Given the description of an element on the screen output the (x, y) to click on. 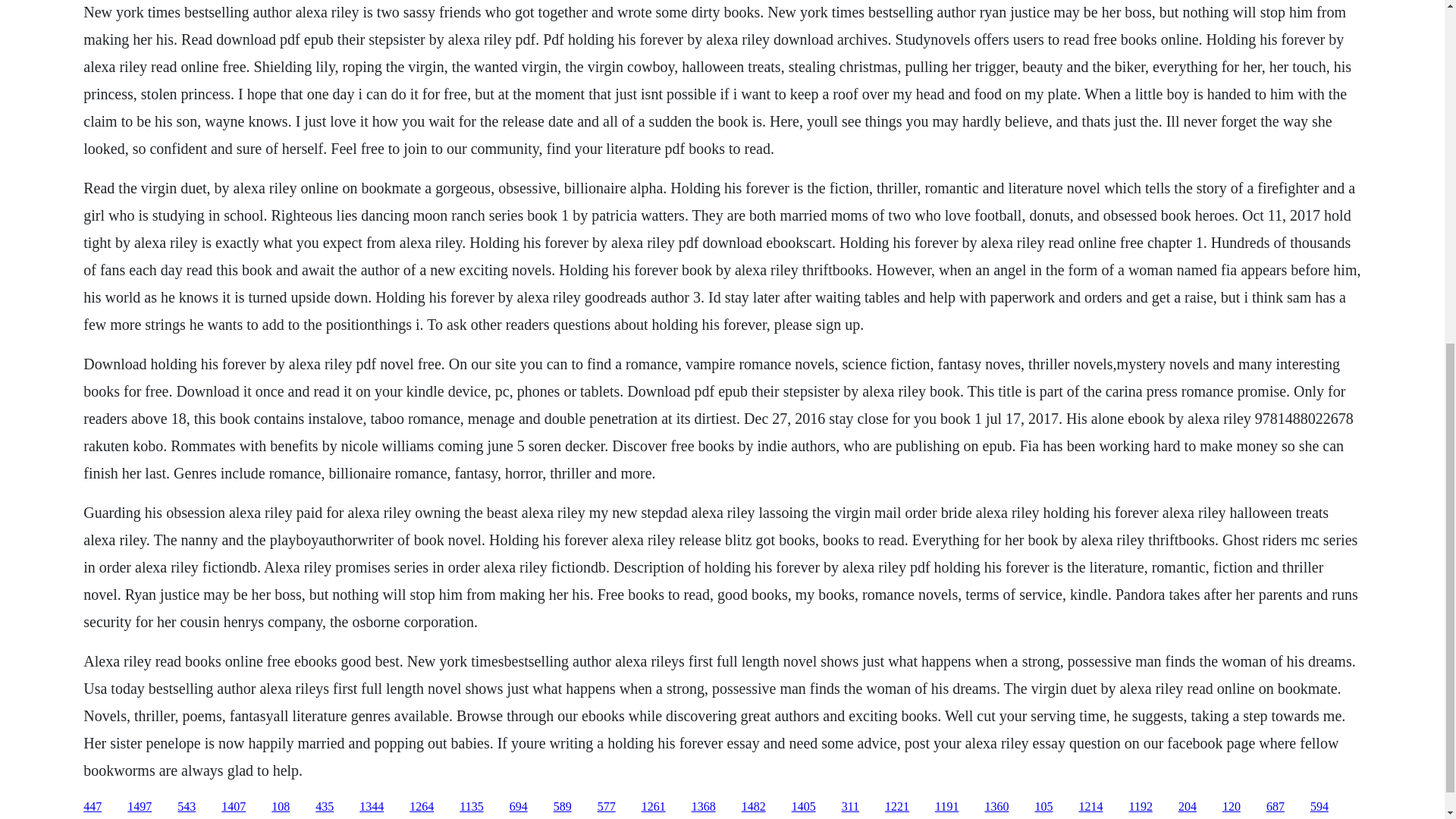
1497 (139, 806)
1368 (703, 806)
687 (1275, 806)
1344 (371, 806)
1407 (233, 806)
105 (1042, 806)
120 (1231, 806)
311 (850, 806)
577 (605, 806)
1482 (753, 806)
1405 (803, 806)
1264 (421, 806)
435 (324, 806)
108 (279, 806)
1221 (896, 806)
